Given the description of an element on the screen output the (x, y) to click on. 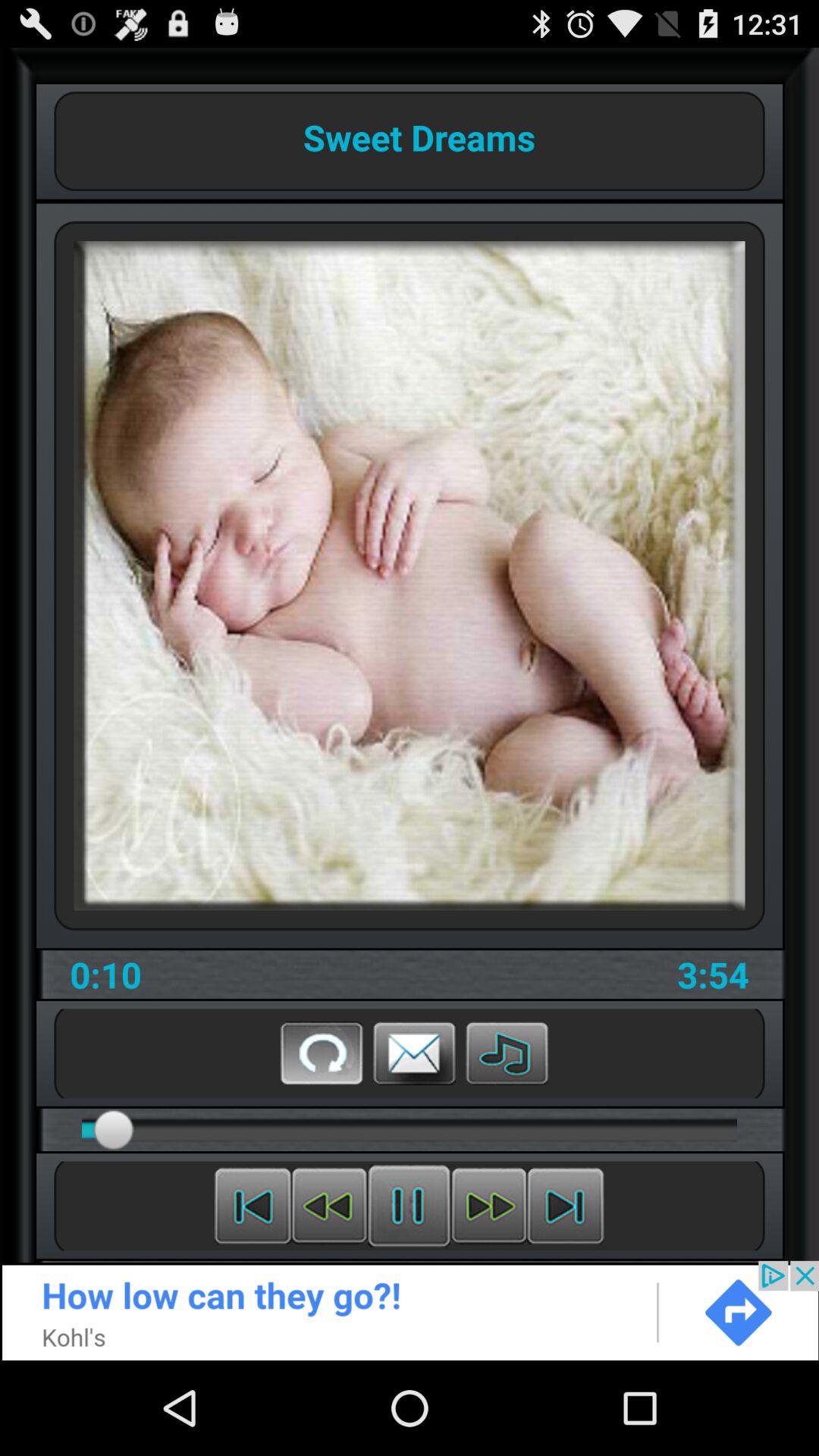
play music button (506, 1053)
